Given the description of an element on the screen output the (x, y) to click on. 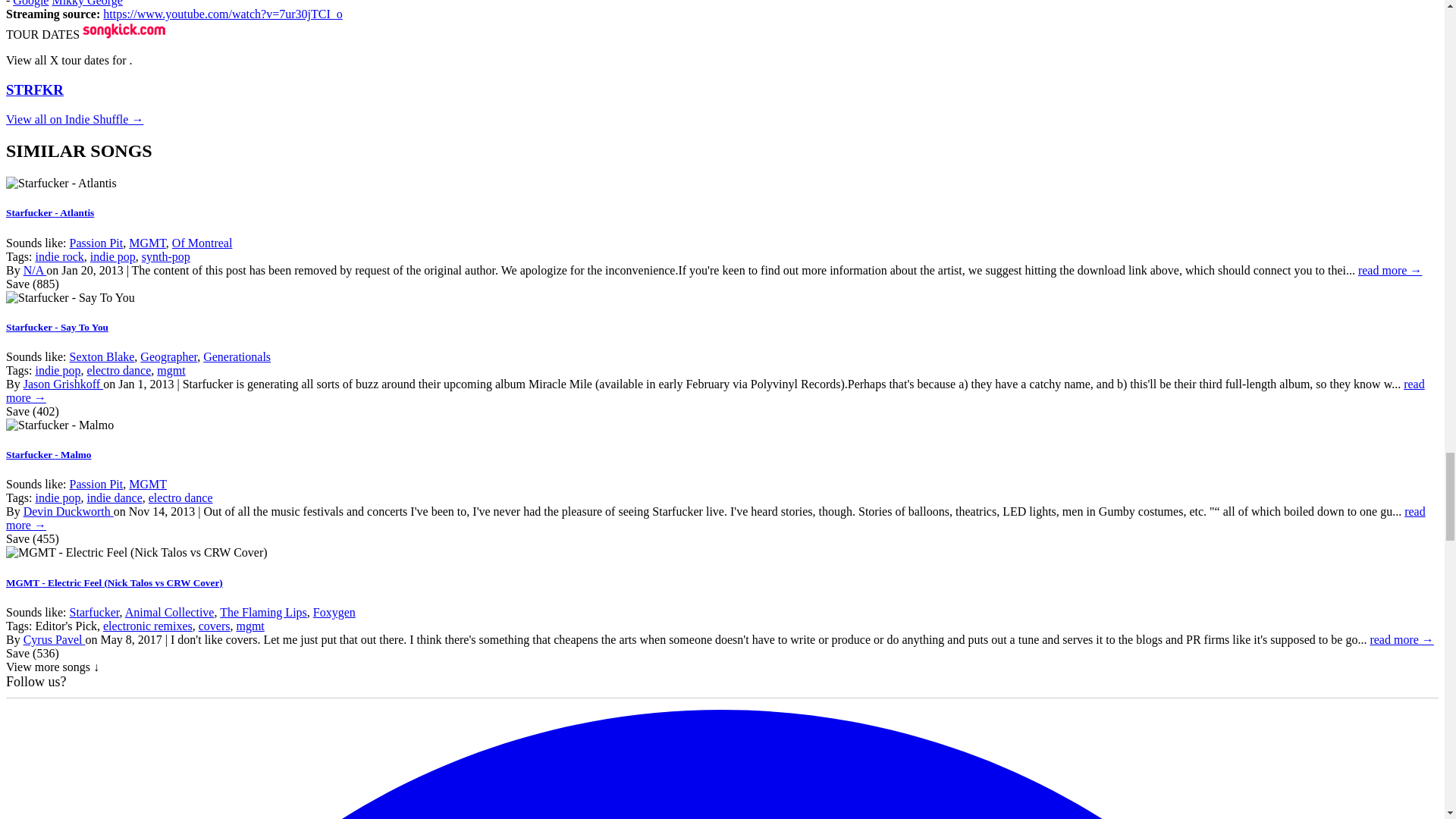
Mikky George (86, 3)
Google (30, 3)
